Given the description of an element on the screen output the (x, y) to click on. 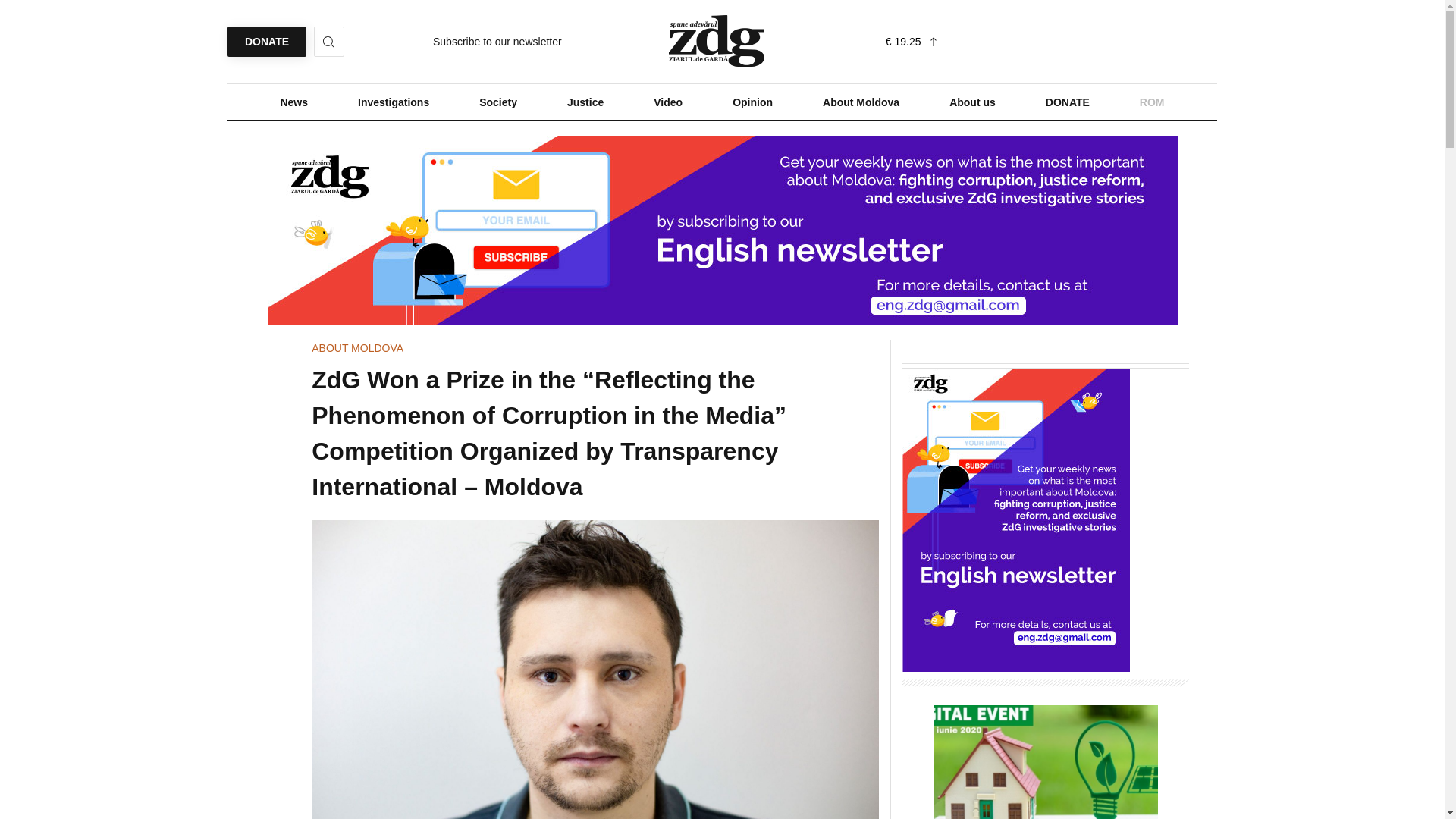
Video (668, 102)
DONATE (1067, 102)
ABOUT MOLDOVA (357, 347)
Opinion (752, 102)
ROM (1151, 102)
Society (497, 102)
News (293, 102)
Subscribe to our newsletter (497, 41)
DONATE (266, 41)
Investigations (393, 102)
